Given the description of an element on the screen output the (x, y) to click on. 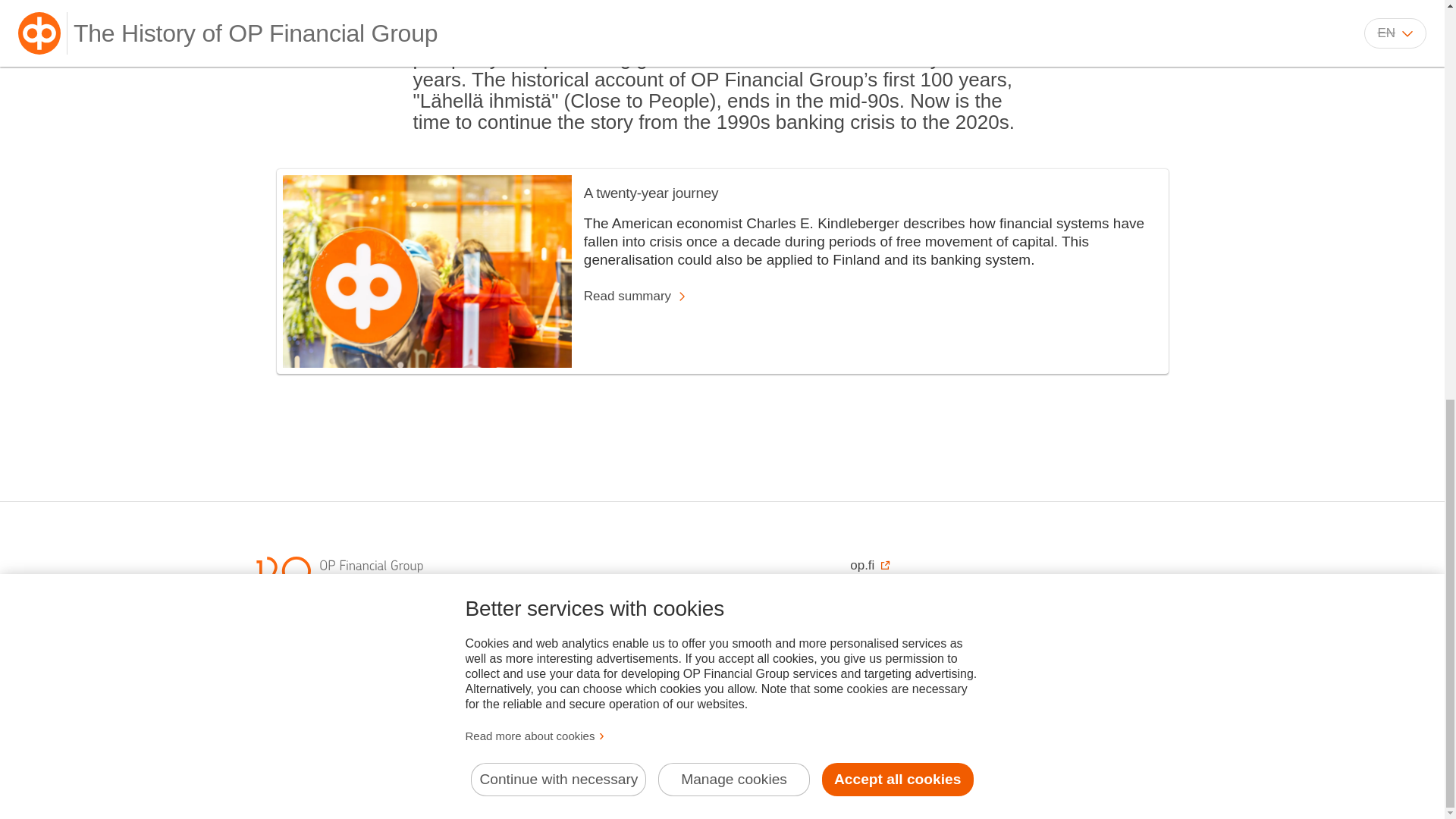
Instagram (979, 696)
Twitter (901, 696)
Accept all cookies (898, 7)
Instagram (979, 696)
Continue with necessary (558, 7)
LinkedIn (940, 696)
Facebook (863, 696)
Manage cookies (733, 7)
LinkedIn (940, 696)
Twitter (901, 696)
Facebook (863, 696)
